Given the description of an element on the screen output the (x, y) to click on. 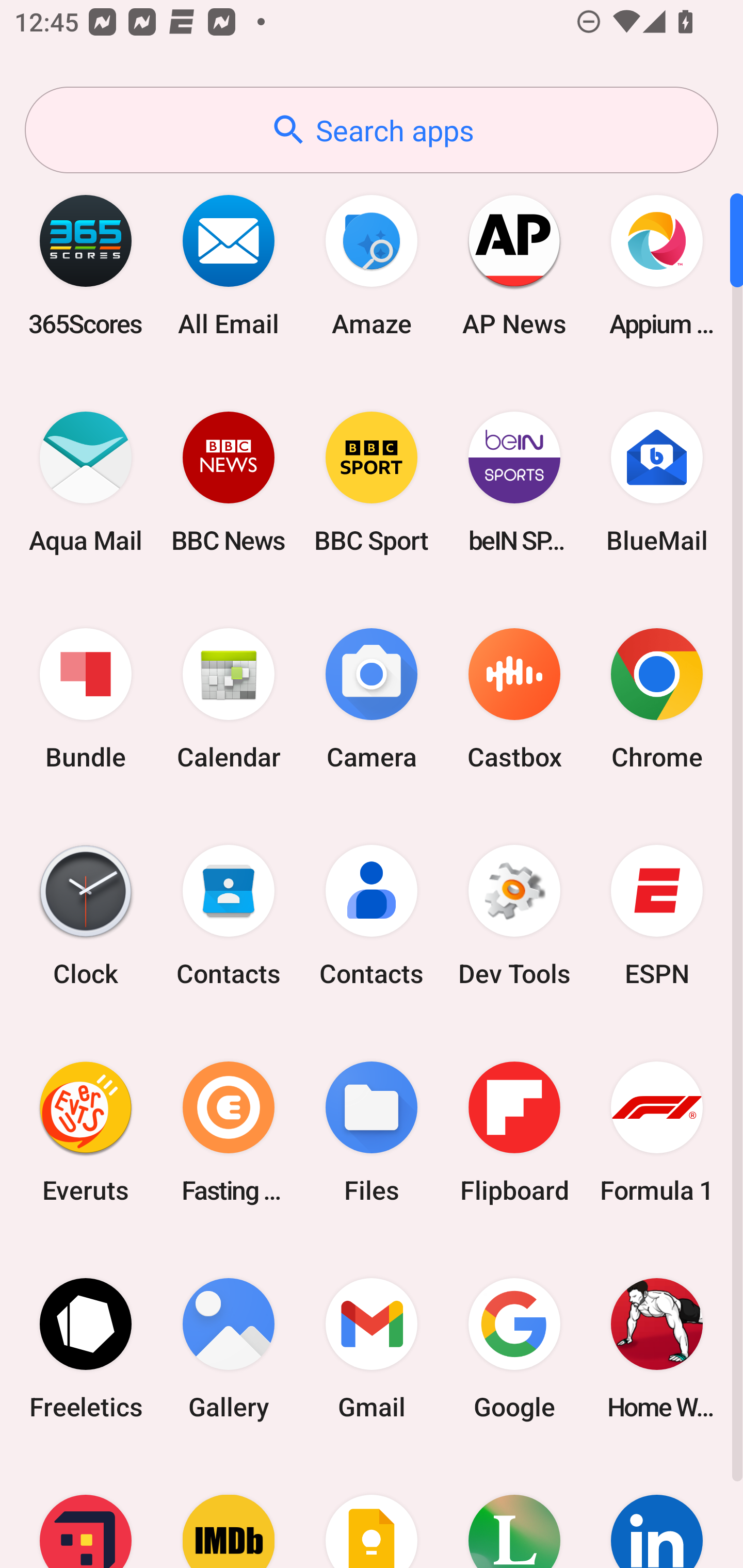
  Search apps (371, 130)
365Scores (85, 264)
All Email (228, 264)
Amaze (371, 264)
AP News (514, 264)
Appium Settings (656, 264)
Aqua Mail (85, 482)
BBC News (228, 482)
BBC Sport (371, 482)
beIN SPORTS (514, 482)
BlueMail (656, 482)
Bundle (85, 699)
Calendar (228, 699)
Camera (371, 699)
Castbox (514, 699)
Chrome (656, 699)
Clock (85, 915)
Contacts (228, 915)
Contacts (371, 915)
Dev Tools (514, 915)
ESPN (656, 915)
Everuts (85, 1131)
Fasting Coach (228, 1131)
Files (371, 1131)
Flipboard (514, 1131)
Formula 1 (656, 1131)
Freeletics (85, 1348)
Gallery (228, 1348)
Gmail (371, 1348)
Google (514, 1348)
Home Workout (656, 1348)
Hotels.com (85, 1512)
IMDb (228, 1512)
Keep Notes (371, 1512)
Lifesum (514, 1512)
LinkedIn (656, 1512)
